Given the description of an element on the screen output the (x, y) to click on. 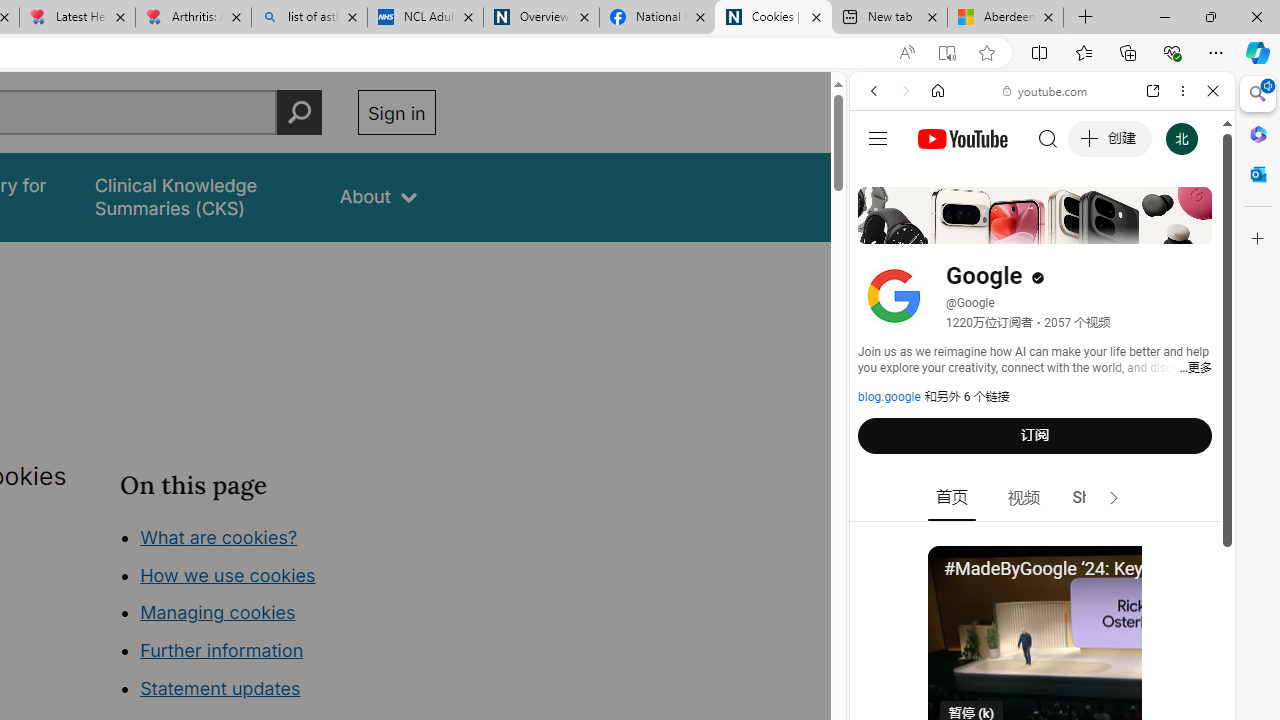
AutomationID: right (1113, 497)
Further information (221, 650)
